Given the description of an element on the screen output the (x, y) to click on. 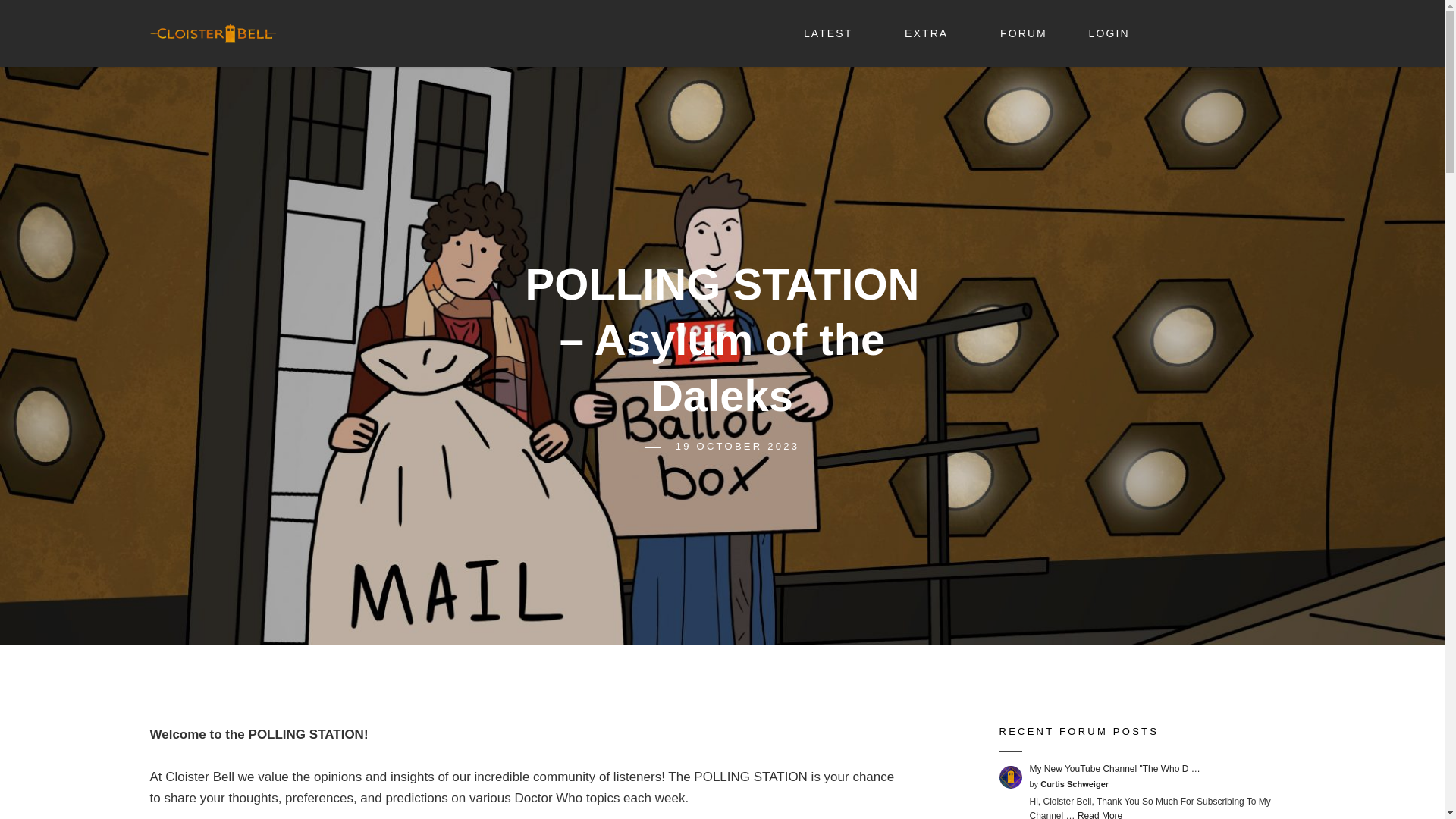
LATEST (833, 29)
EXTRA (930, 33)
My New YouTube Channel "The Who Den" (1114, 768)
CLOISTER BELL PODCAST (445, 28)
19 OCTOBER 2023 (737, 446)
FORUM (1023, 33)
LOGIN (1109, 33)
